Given the description of an element on the screen output the (x, y) to click on. 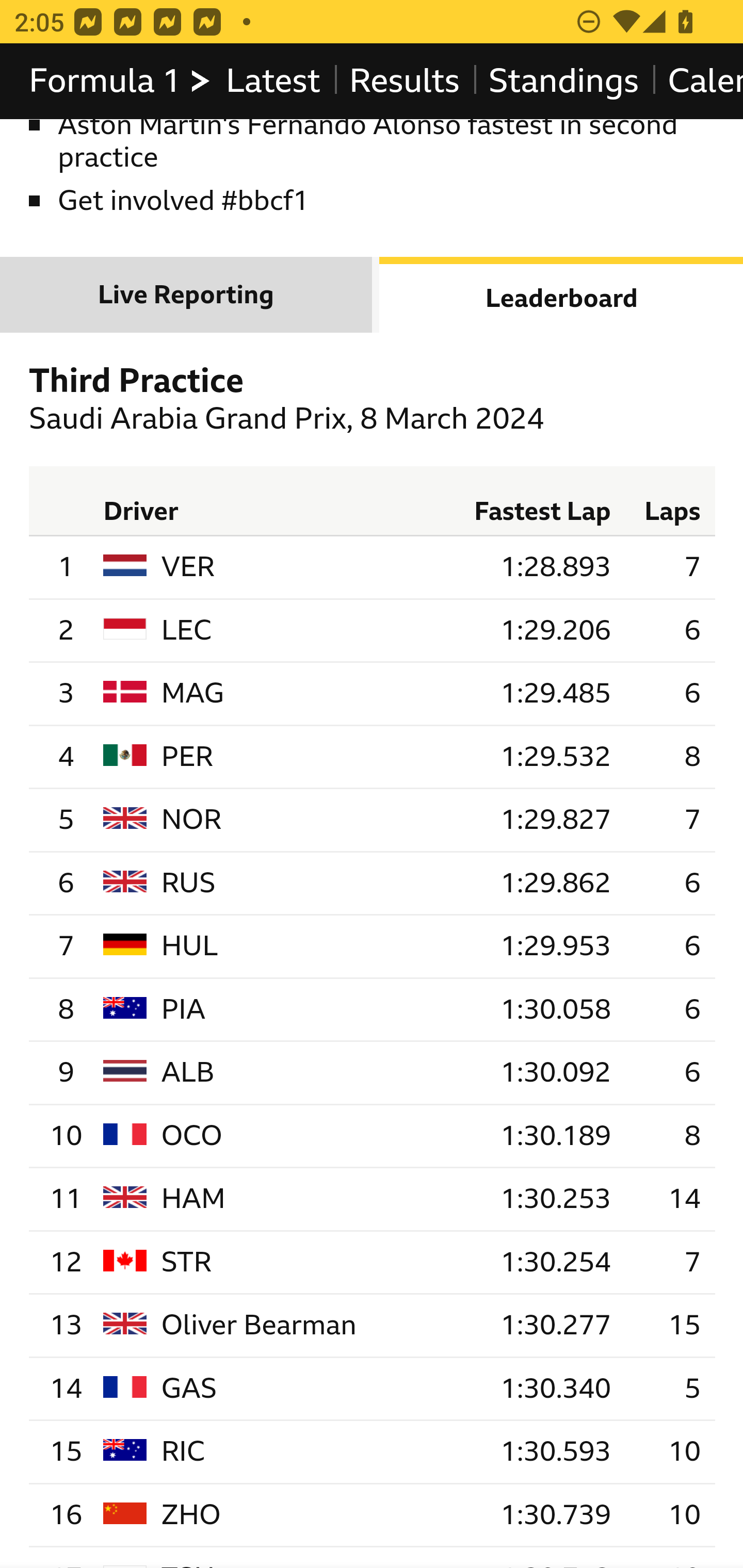
Live Reporting (186, 295)
Leaderboard (560, 295)
